Given the description of an element on the screen output the (x, y) to click on. 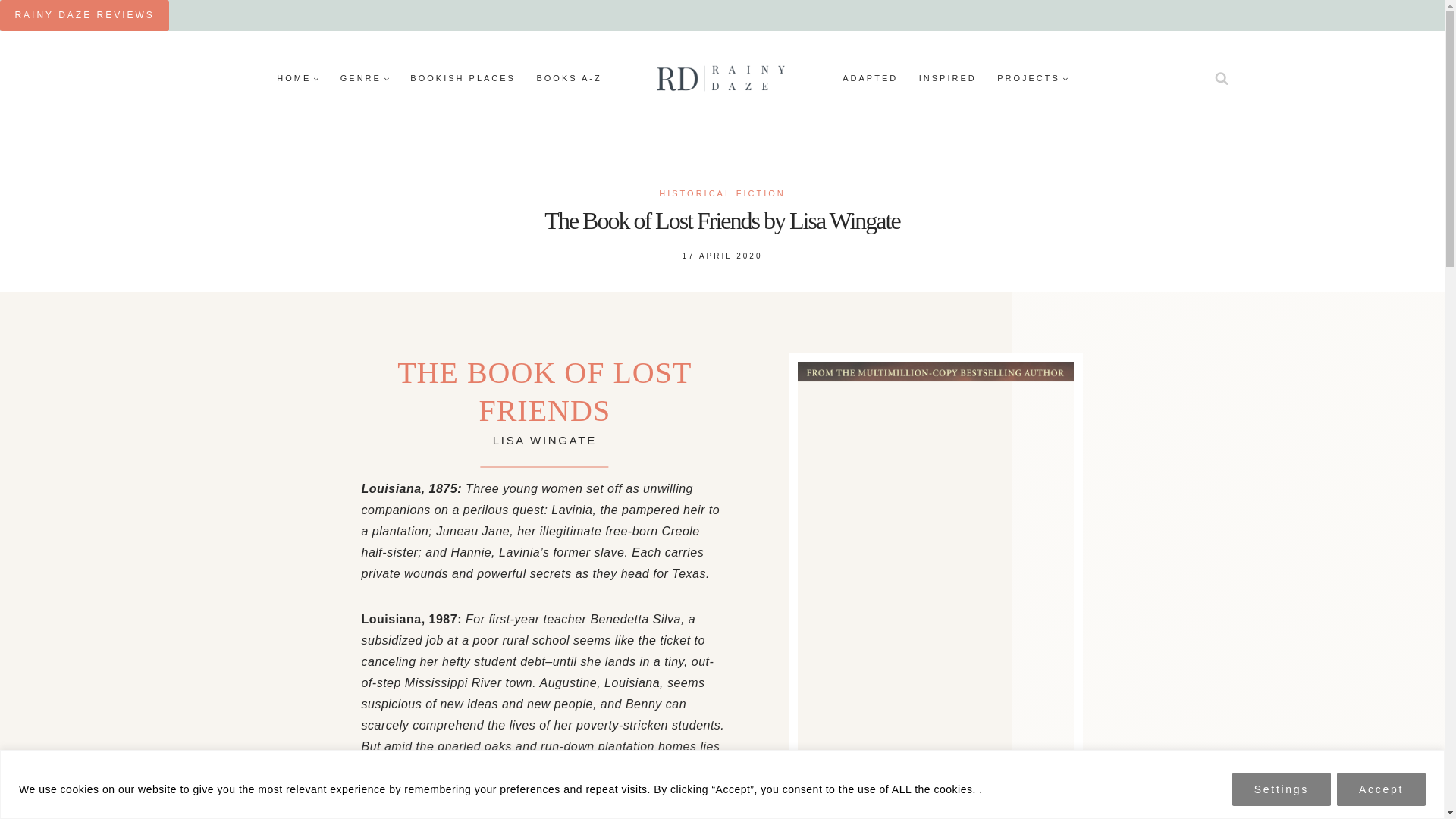
PROJECTS (1032, 78)
GENRE (365, 78)
BOOKISH PLACES (462, 78)
Settings (1280, 788)
HOME (298, 78)
INSPIRED (947, 78)
ADAPTED (870, 78)
RAINY DAZE REVIEWS (84, 15)
BOOKS A-Z (568, 78)
Accept (1380, 788)
